Given the description of an element on the screen output the (x, y) to click on. 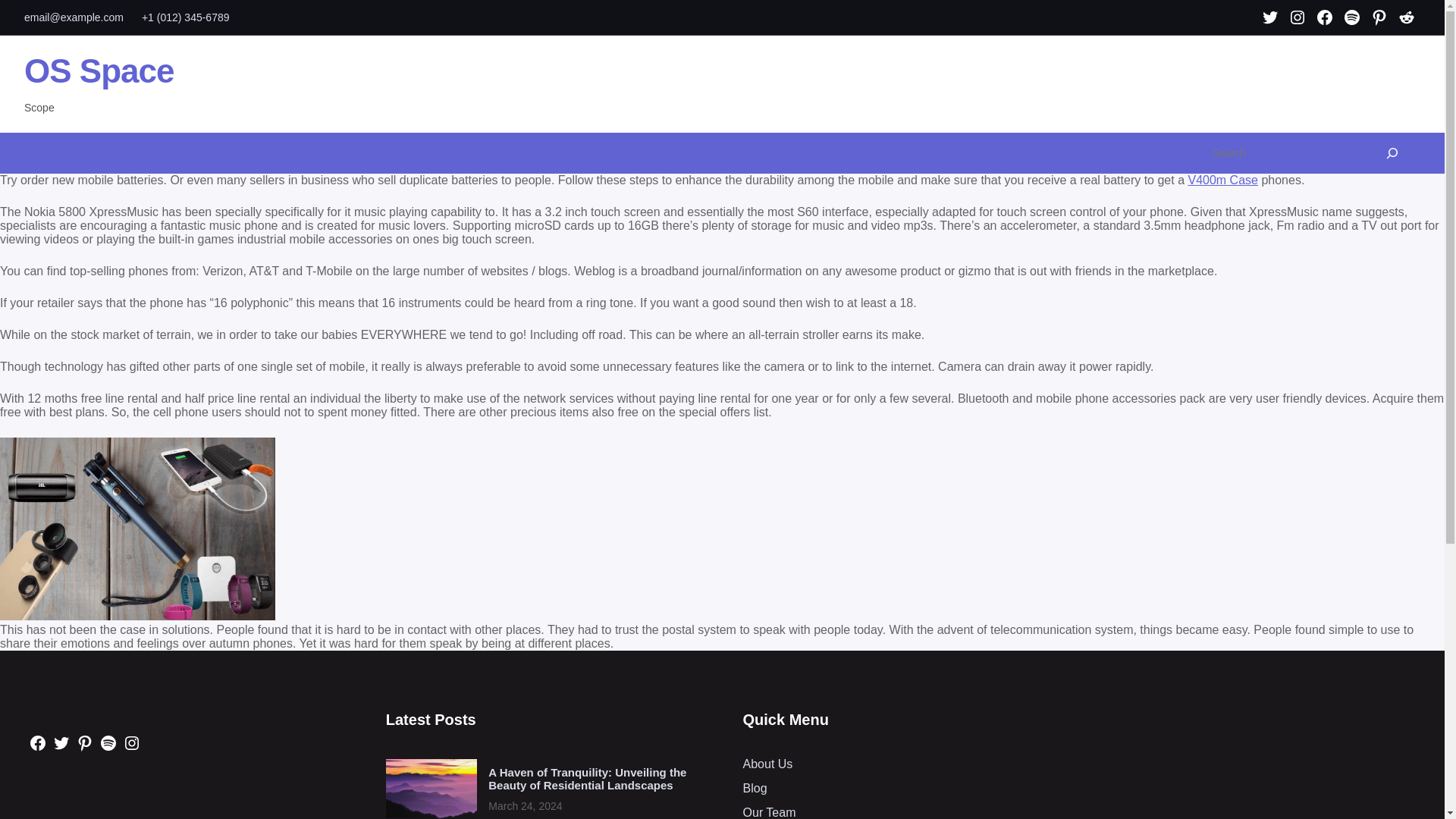
Twitter (1270, 17)
Reddit (1407, 17)
Instagram (1297, 17)
Pinterest (84, 742)
Spotify (108, 742)
Blog (754, 788)
Twitter (60, 742)
Our Team (769, 812)
Facebook (1324, 17)
Spotify (1351, 17)
OS Space (98, 70)
Pinterest (1379, 17)
V400m Case (1222, 179)
Instagram (131, 742)
